Given the description of an element on the screen output the (x, y) to click on. 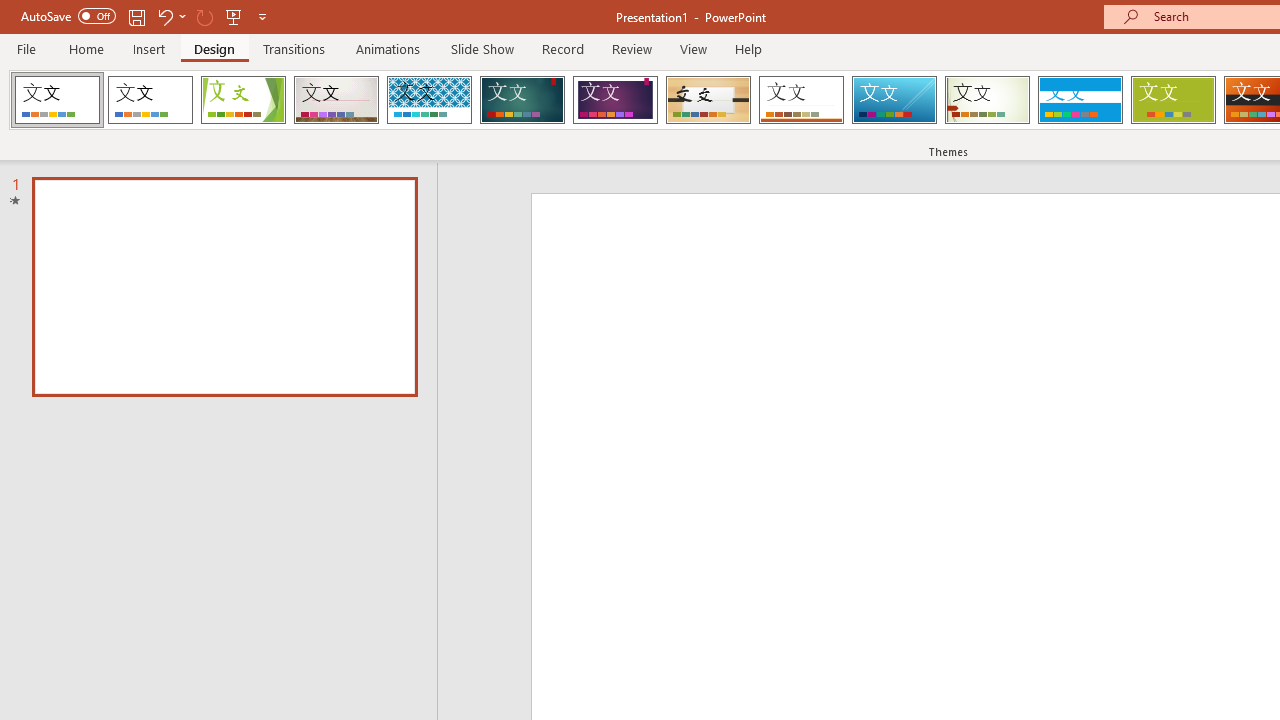
Banded Loading Preview... (1080, 100)
Office Theme (150, 100)
Ion Boardroom Loading Preview... (615, 100)
Basis Loading Preview... (1172, 100)
Facet (243, 100)
Wisp Loading Preview... (987, 100)
